Given the description of an element on the screen output the (x, y) to click on. 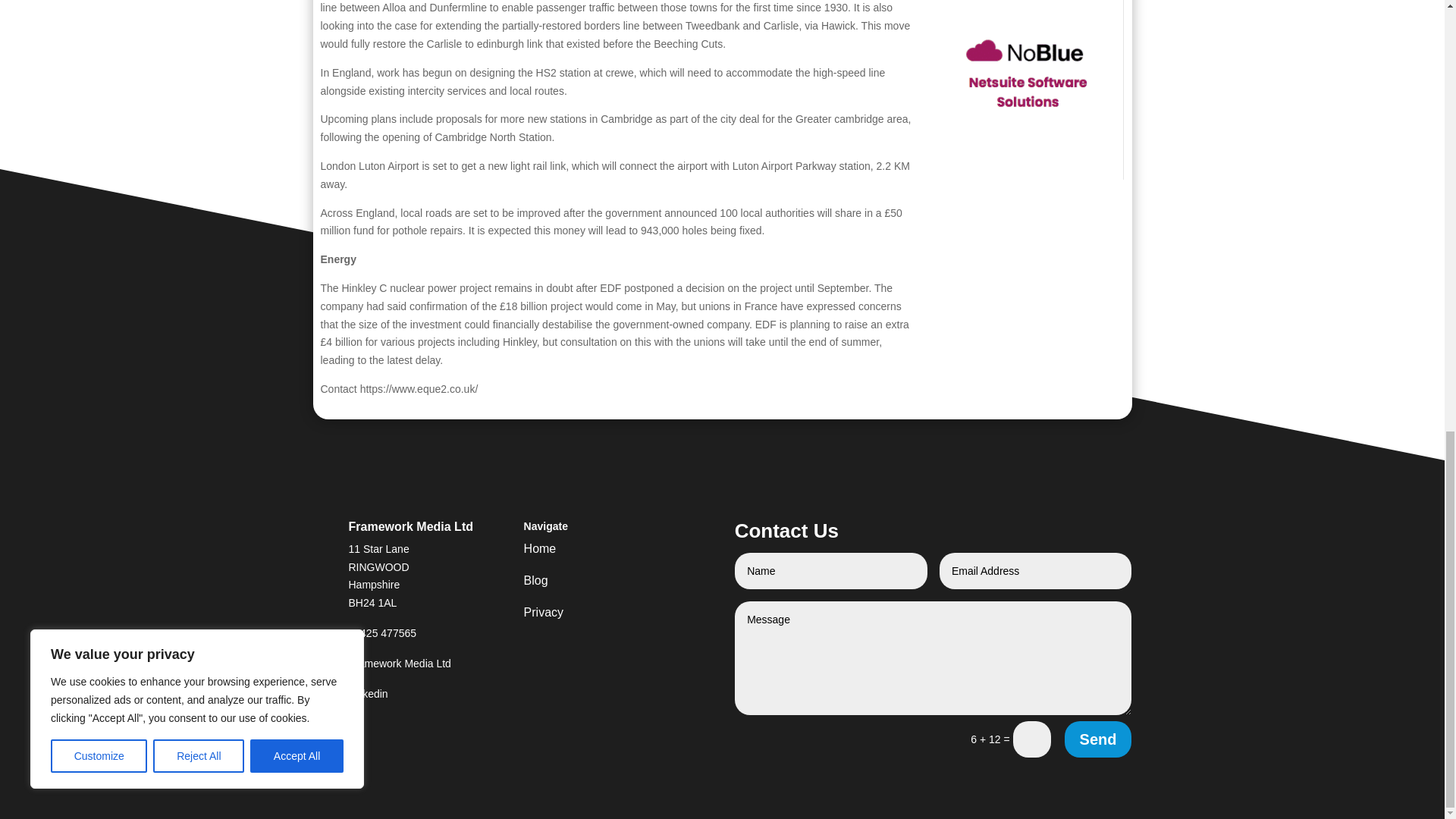
Blog (588, 583)
Privacy (588, 615)
Send (1098, 739)
Home (588, 551)
